Given the description of an element on the screen output the (x, y) to click on. 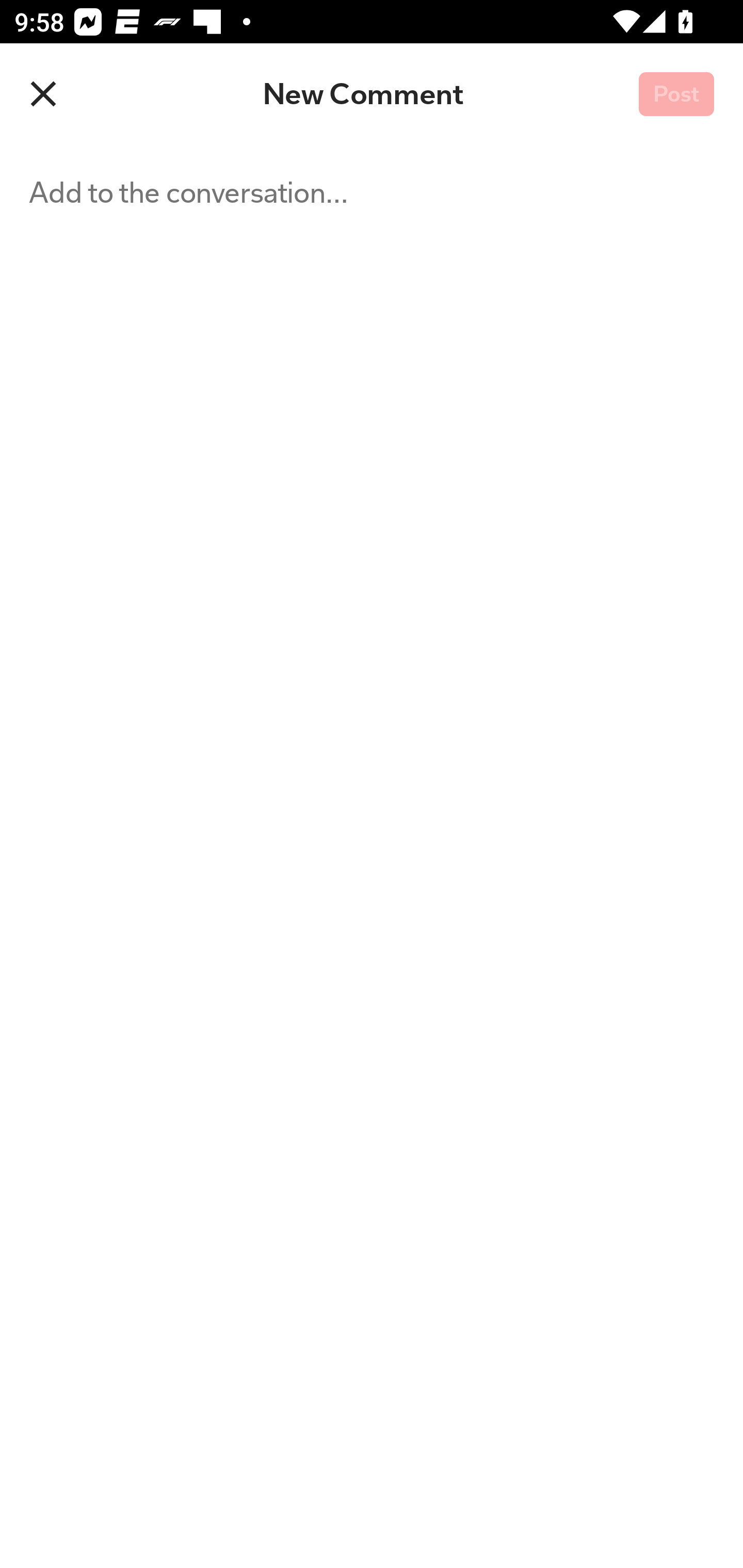
Post (676, 94)
Add to the conversation… (252, 856)
